Given the description of an element on the screen output the (x, y) to click on. 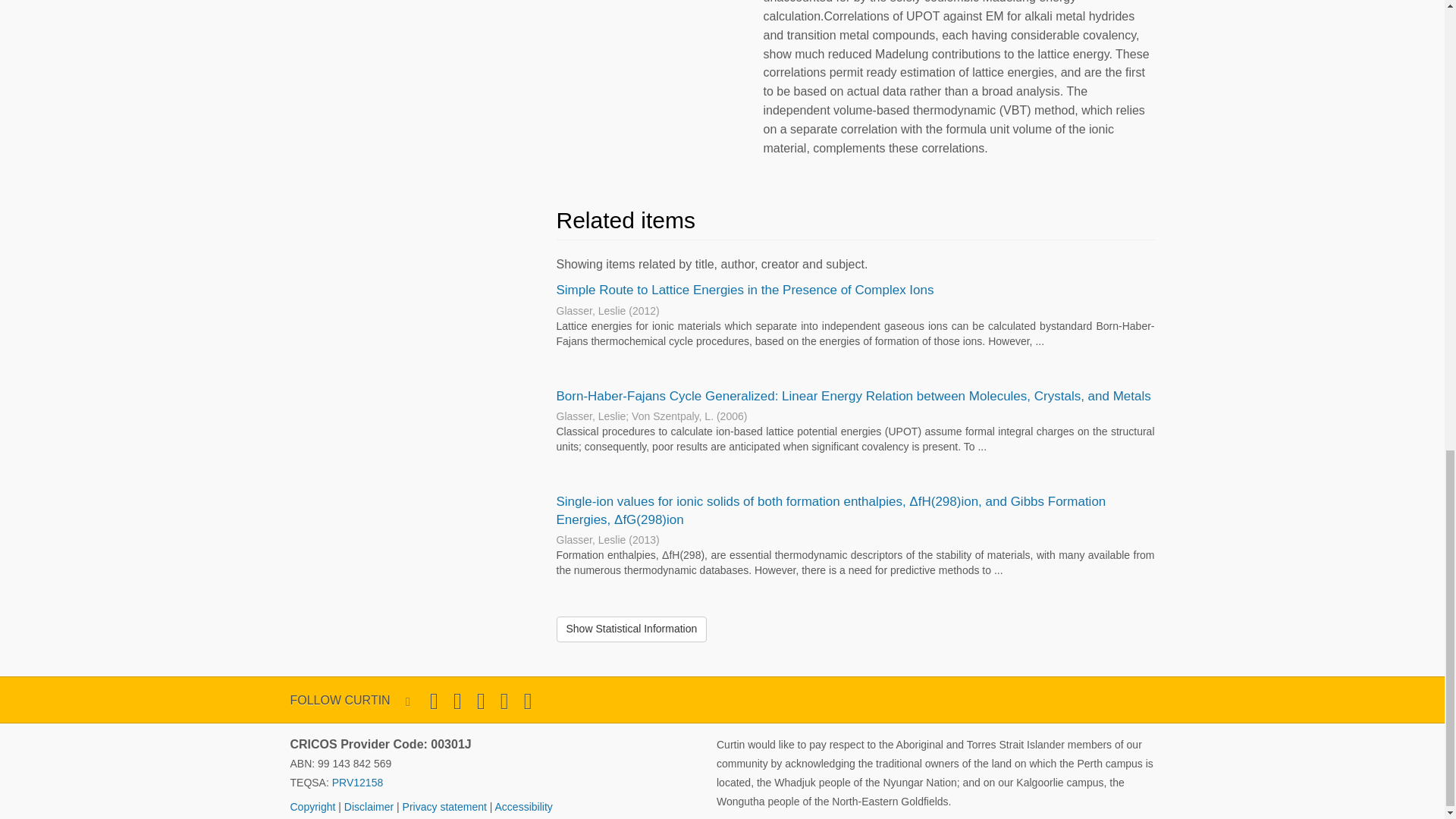
Show Statistical Information (631, 629)
